Given the description of an element on the screen output the (x, y) to click on. 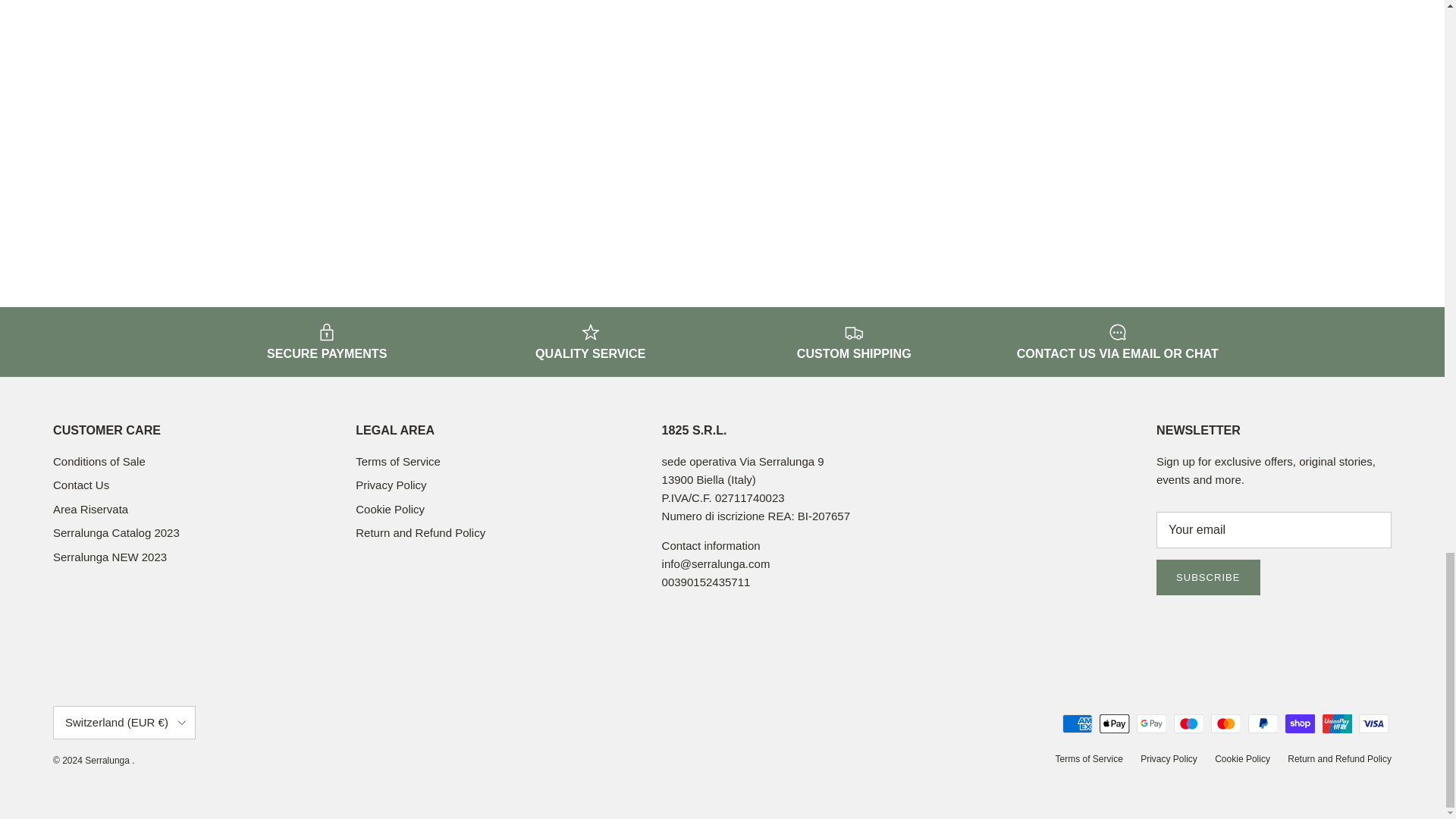
American Express (1077, 723)
Google Pay (1151, 723)
Mastercard (1225, 723)
Shop Pay (1299, 723)
PayPal (1262, 723)
Apple Pay (1114, 723)
Visa (1373, 723)
Union Pay (1337, 723)
Maestro (1188, 723)
